Given the description of an element on the screen output the (x, y) to click on. 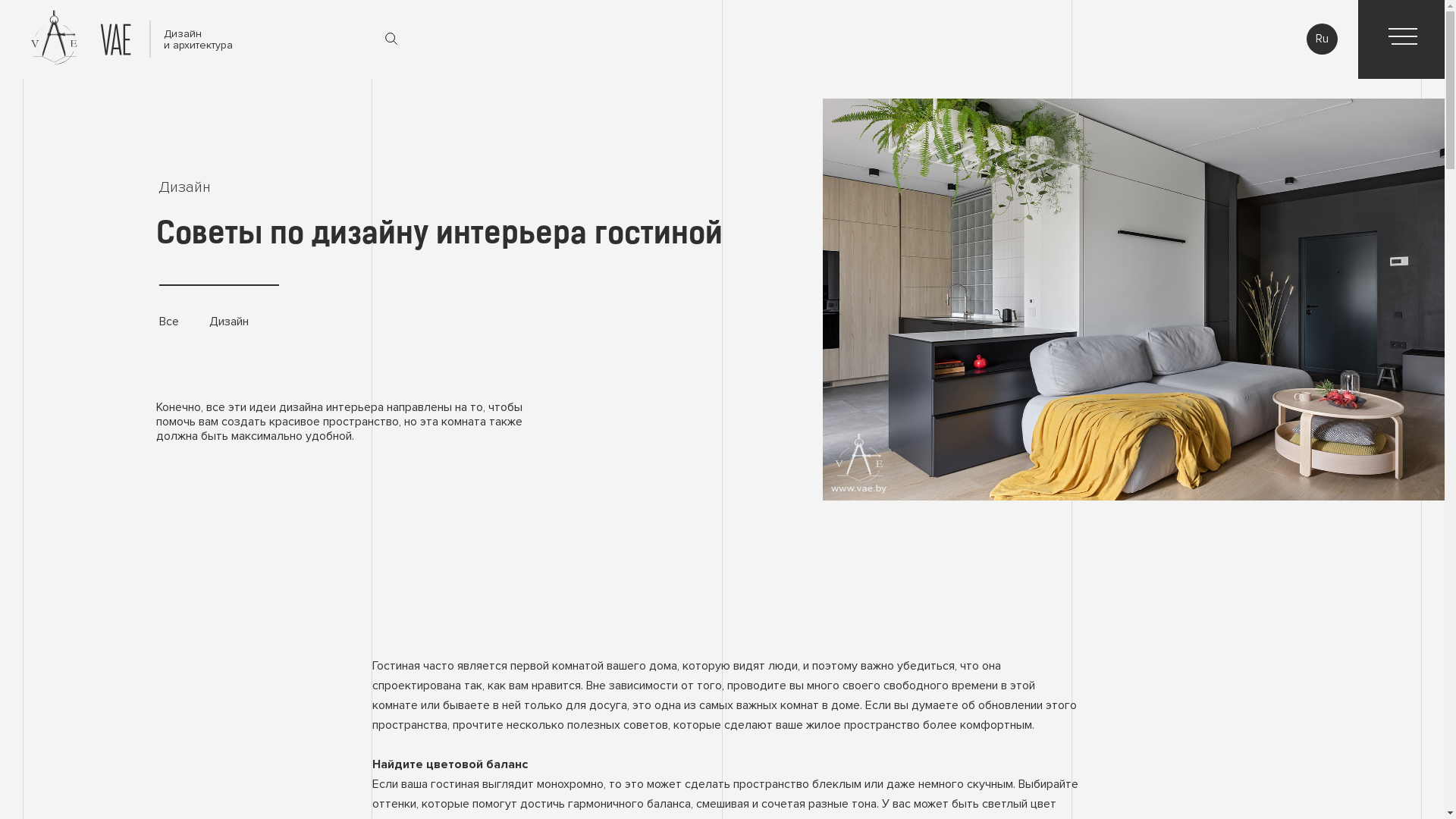
Ru Element type: text (1321, 38)
